Given the description of an element on the screen output the (x, y) to click on. 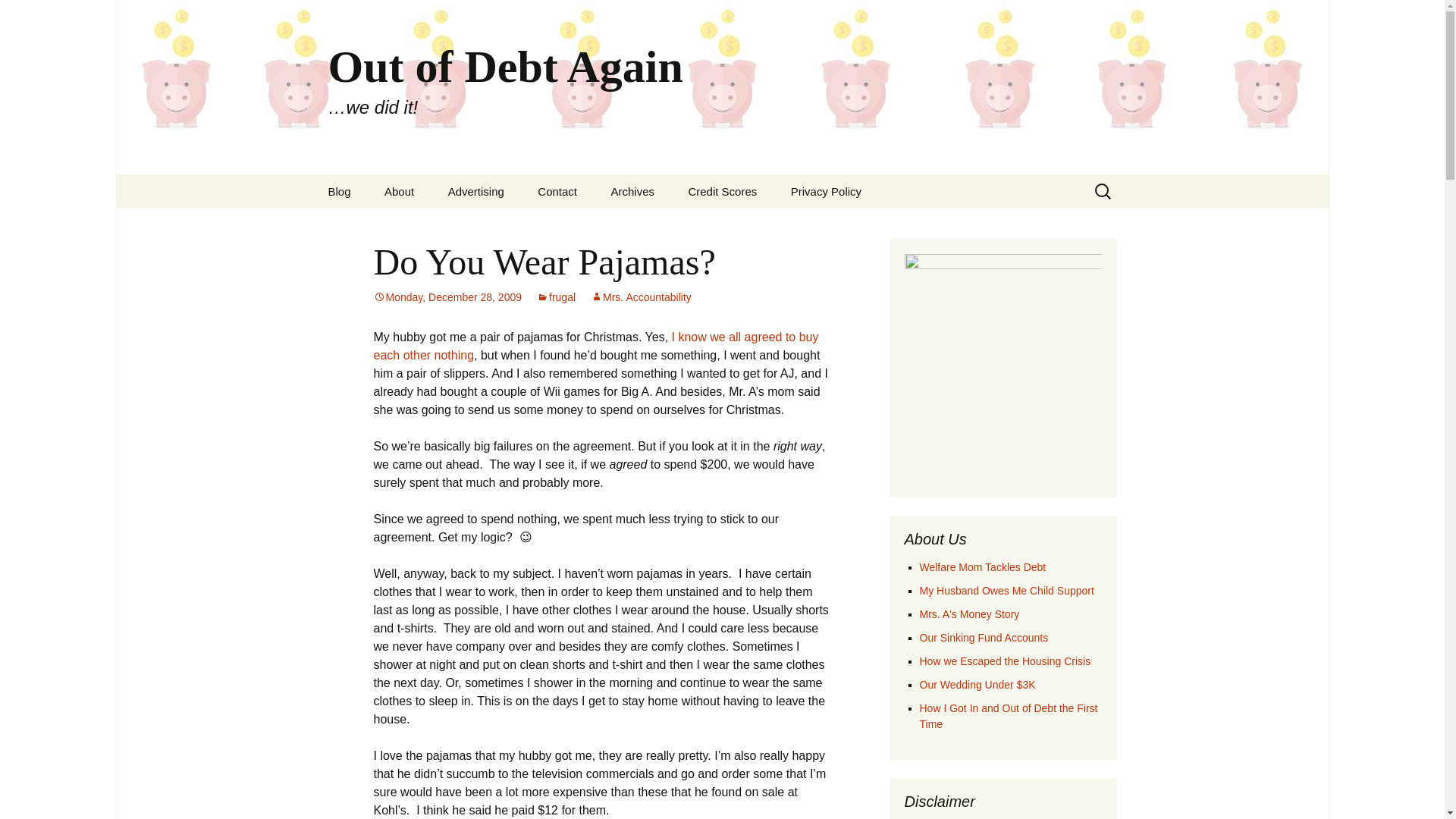
Search (18, 15)
Archives (632, 191)
Contact (557, 191)
Mrs. Accountability (641, 297)
View all posts by Mrs. Accountability (641, 297)
Monday, December 28, 2009 (446, 297)
Privacy Policy (826, 191)
I know we all agreed to buy each other nothing (595, 345)
About (399, 191)
